Given the description of an element on the screen output the (x, y) to click on. 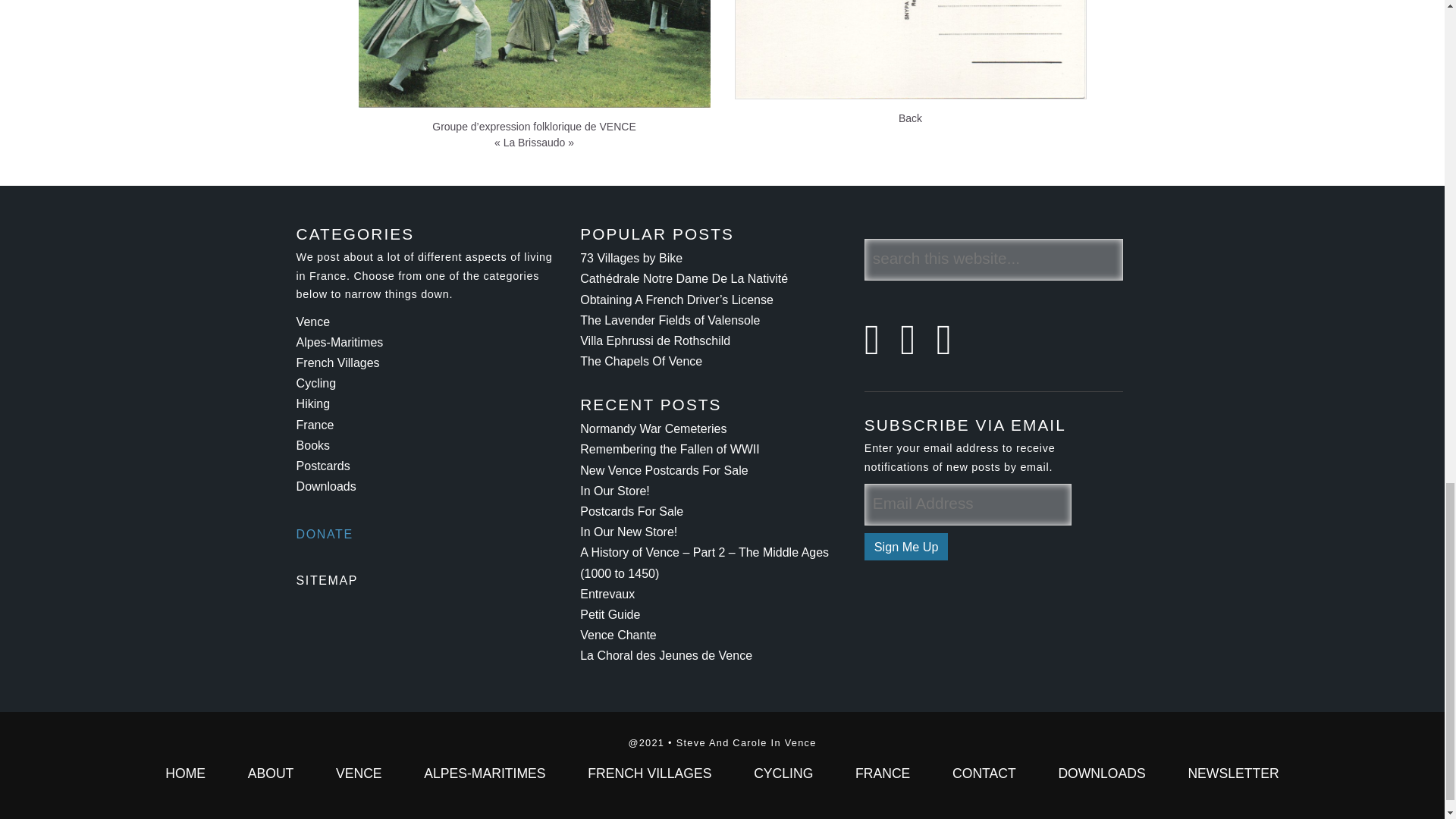
Alpes-Maritimes (340, 341)
DONATE (325, 533)
Books (313, 445)
France (315, 424)
Vence (313, 321)
Cycling (316, 382)
Villa Ephrussi de Rothschild (654, 340)
73 Villages by Bike (630, 257)
Downloads (326, 486)
SITEMAP (327, 580)
